Given the description of an element on the screen output the (x, y) to click on. 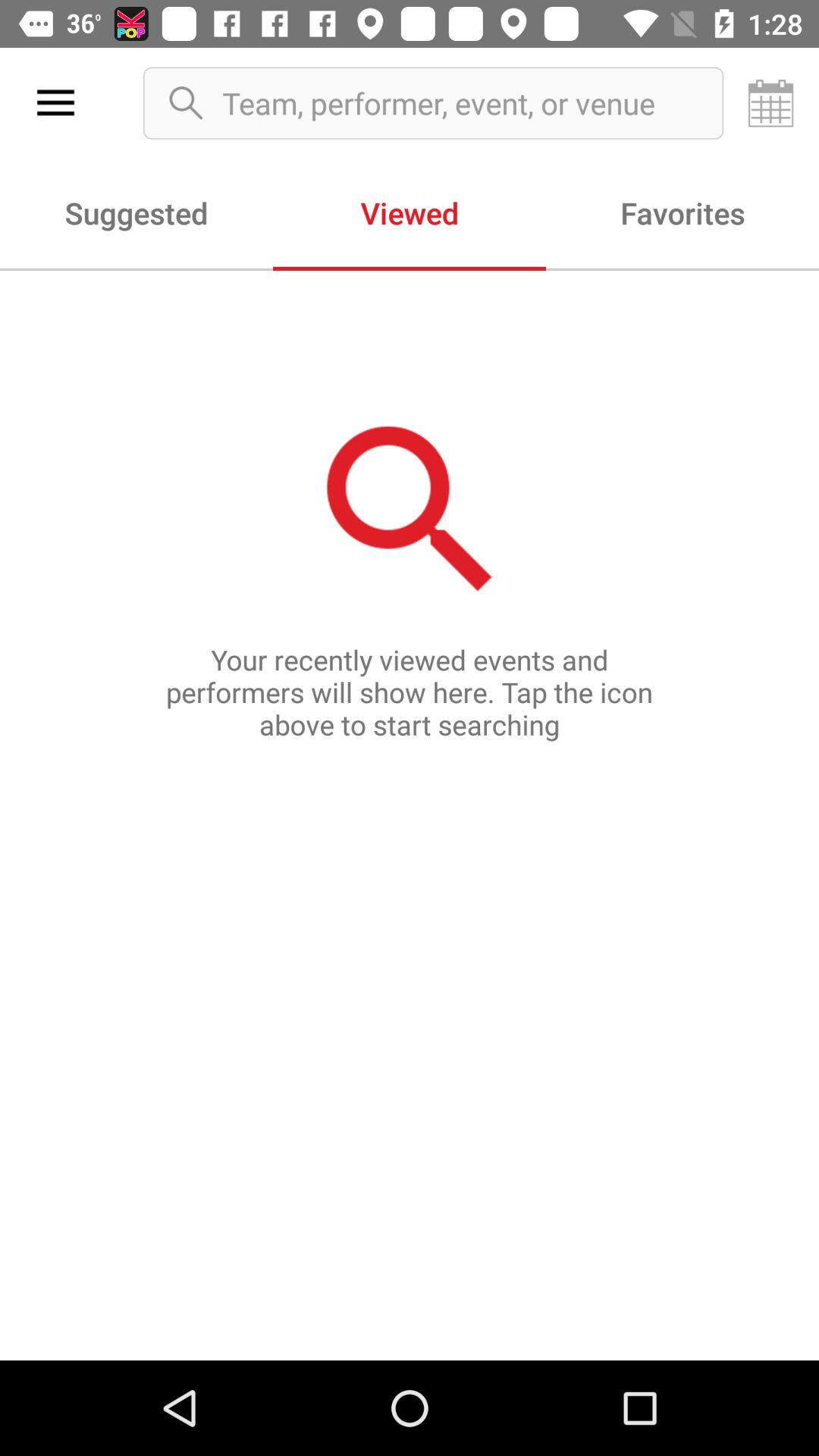
press the your recently viewed item (409, 815)
